Given the description of an element on the screen output the (x, y) to click on. 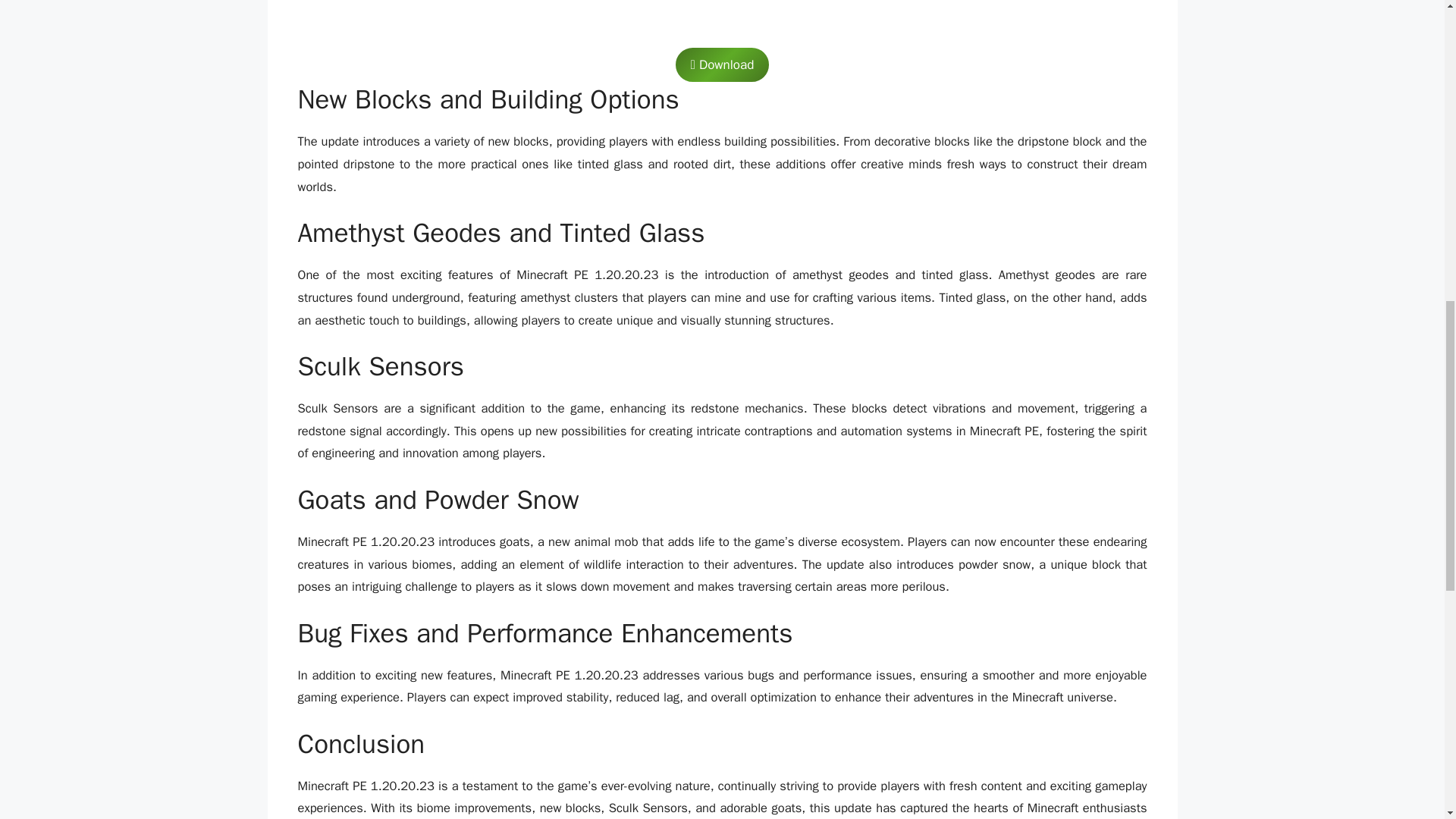
Scroll back to top (1406, 720)
